Given the description of an element on the screen output the (x, y) to click on. 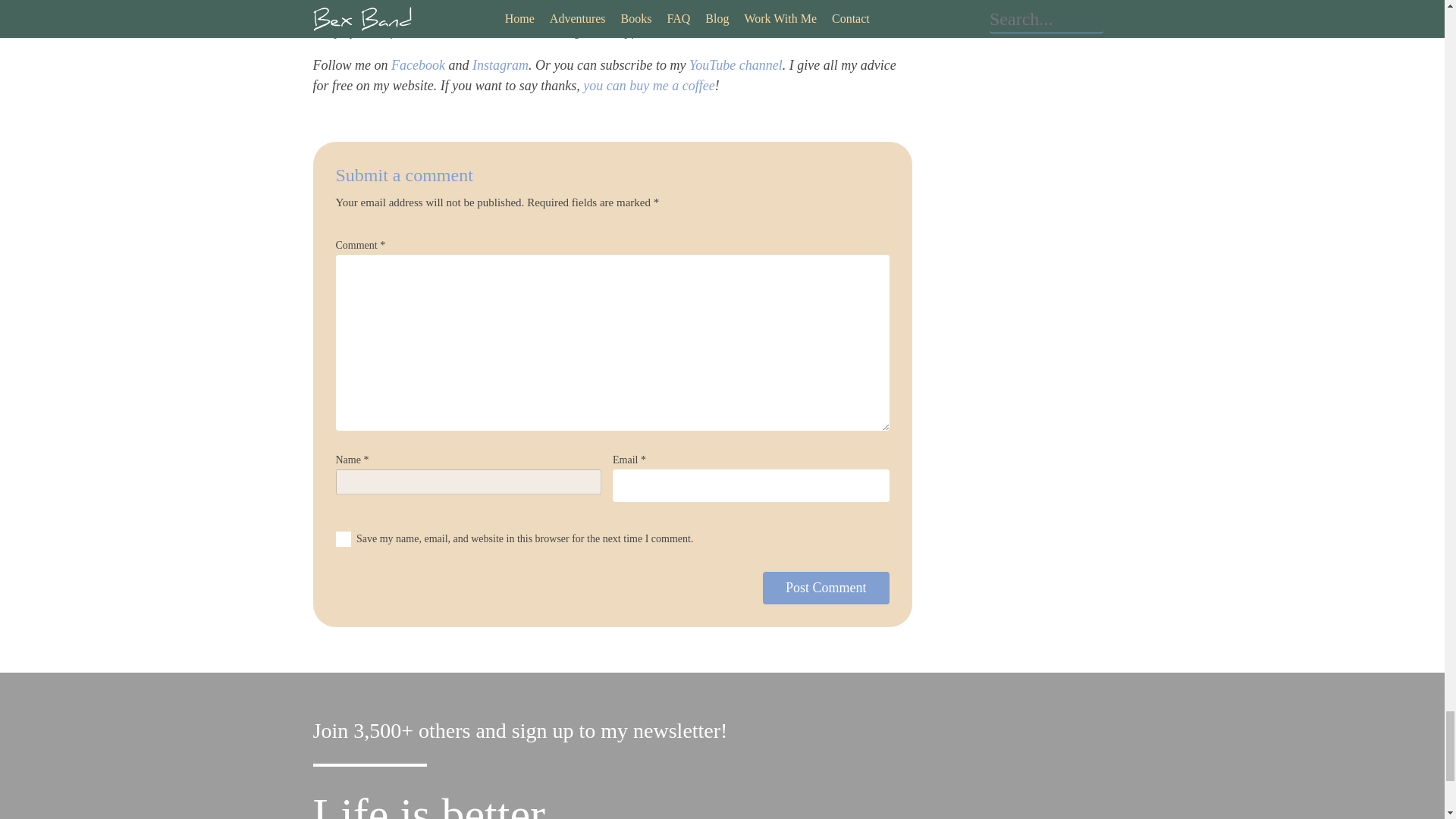
YouTube channel (735, 64)
yes (342, 539)
Facebook (418, 64)
you can buy me a coffee (648, 85)
Post Comment (825, 587)
Post Comment (825, 587)
Instagram (499, 64)
